Given the description of an element on the screen output the (x, y) to click on. 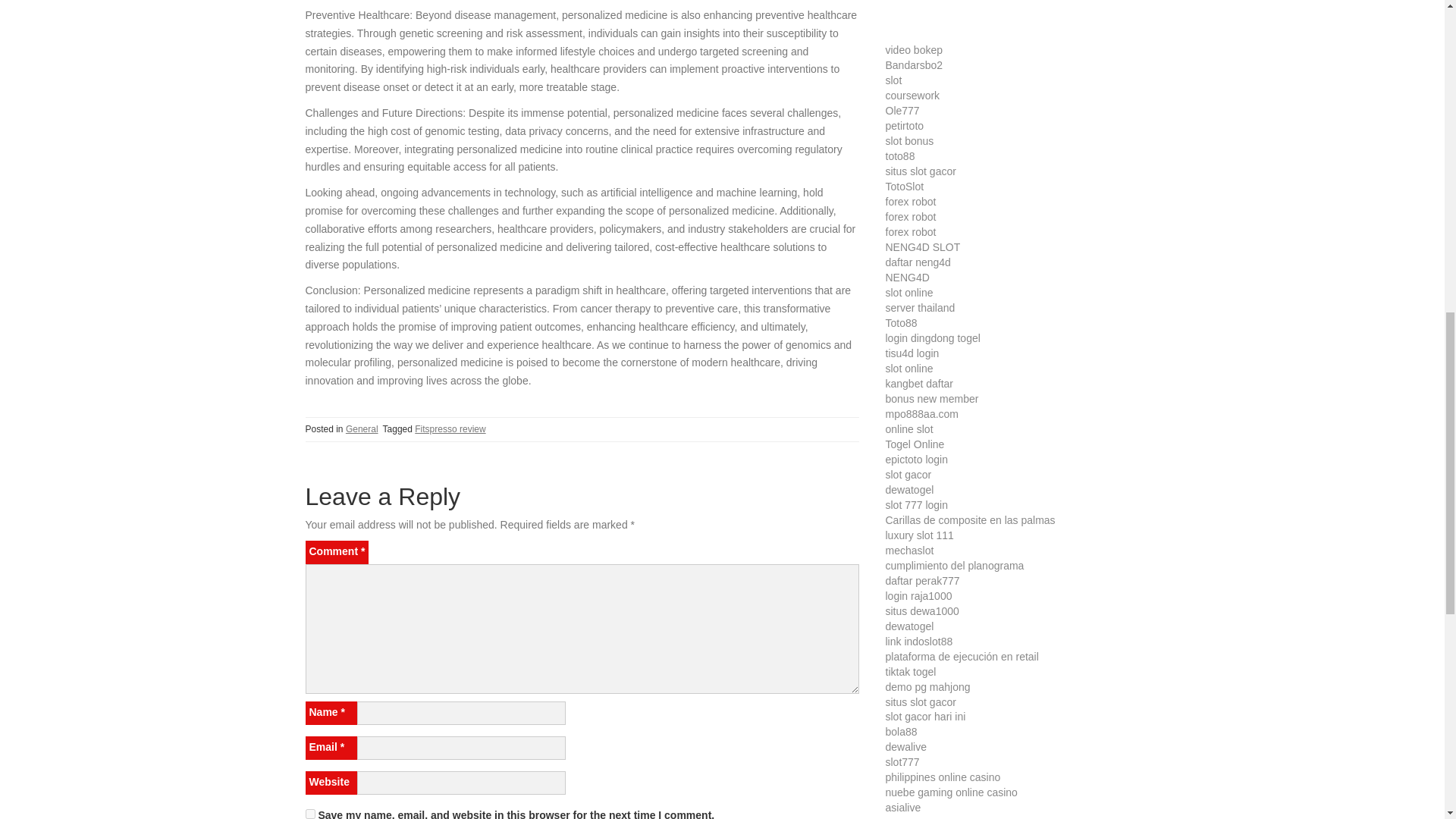
General (362, 429)
yes (309, 814)
Fitspresso review (449, 429)
